Given the description of an element on the screen output the (x, y) to click on. 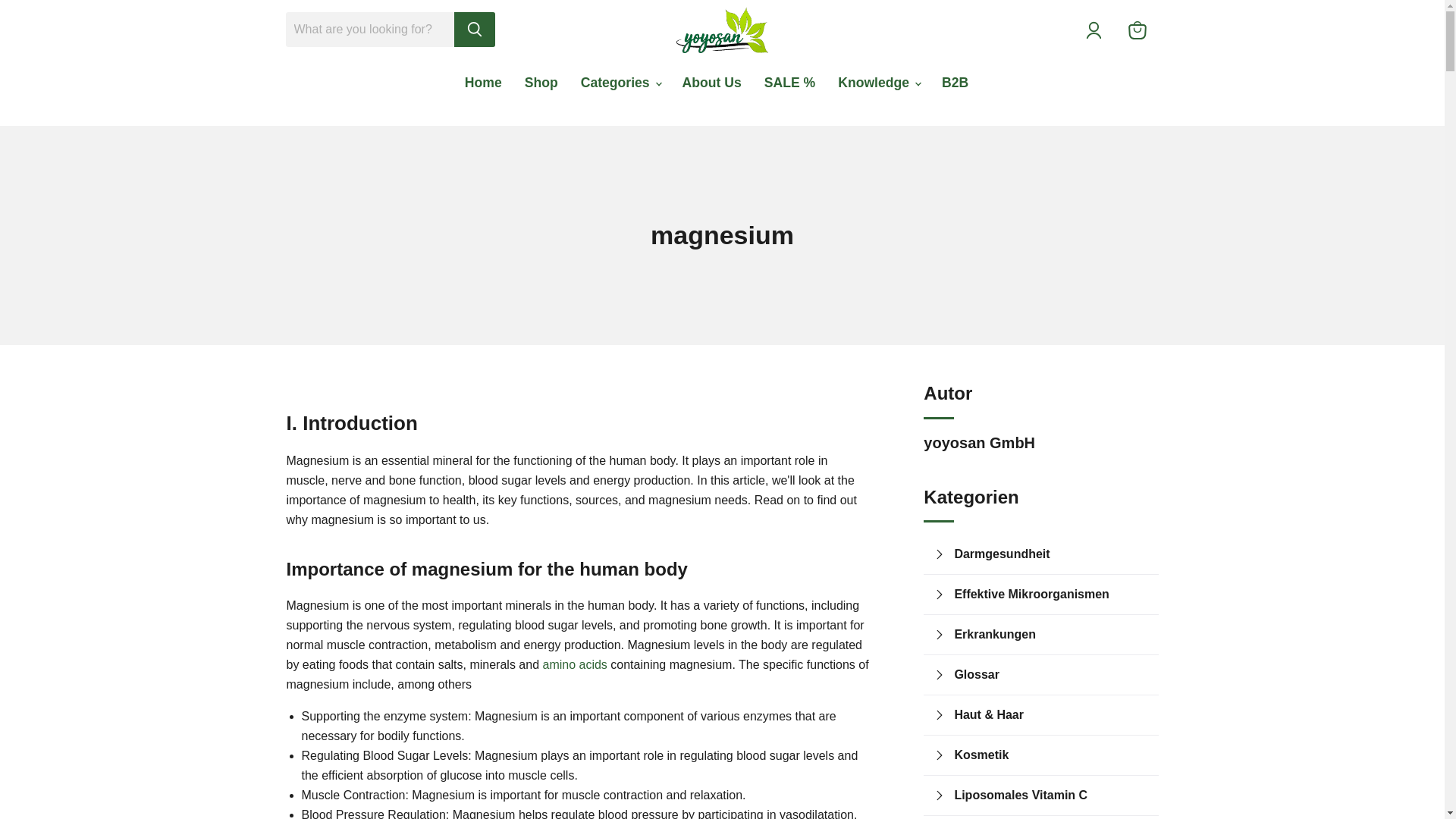
Show articles tagged glossar (1050, 674)
About Us (711, 82)
amino acids (574, 664)
B2B (954, 82)
Show articles tagged darmgesundheit (1050, 554)
Show articles tagged Effektive Mikroorganismen (1050, 594)
Home (482, 82)
Show articles tagged Erkrankungen (1050, 634)
Shop (541, 82)
View cart (1137, 29)
Show articles tagged Liposomales Vitamin C (1050, 794)
Show articles tagged Kosmetik (1050, 754)
